Given the description of an element on the screen output the (x, y) to click on. 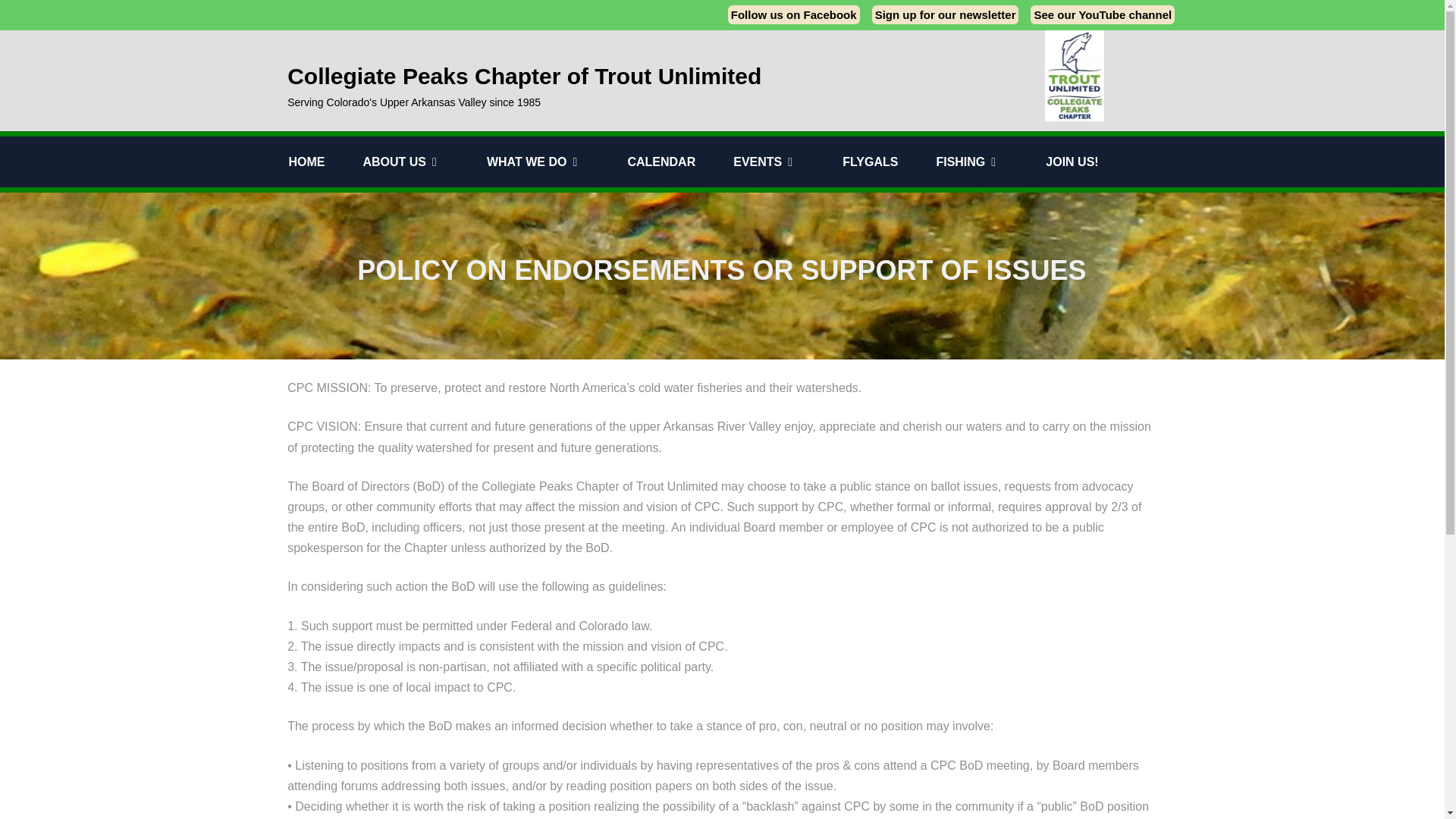
See our YouTube channel (1102, 14)
WHAT WE DO (556, 161)
JOIN US! (1090, 161)
Collegiate Peaks Chapter of Trout Unlimited (575, 75)
CALENDAR (680, 161)
Sign up for our newsletter (945, 14)
EVENTS (788, 161)
Follow us on Facebook (794, 14)
FLYGALS (889, 161)
HOME (325, 161)
